Given the description of an element on the screen output the (x, y) to click on. 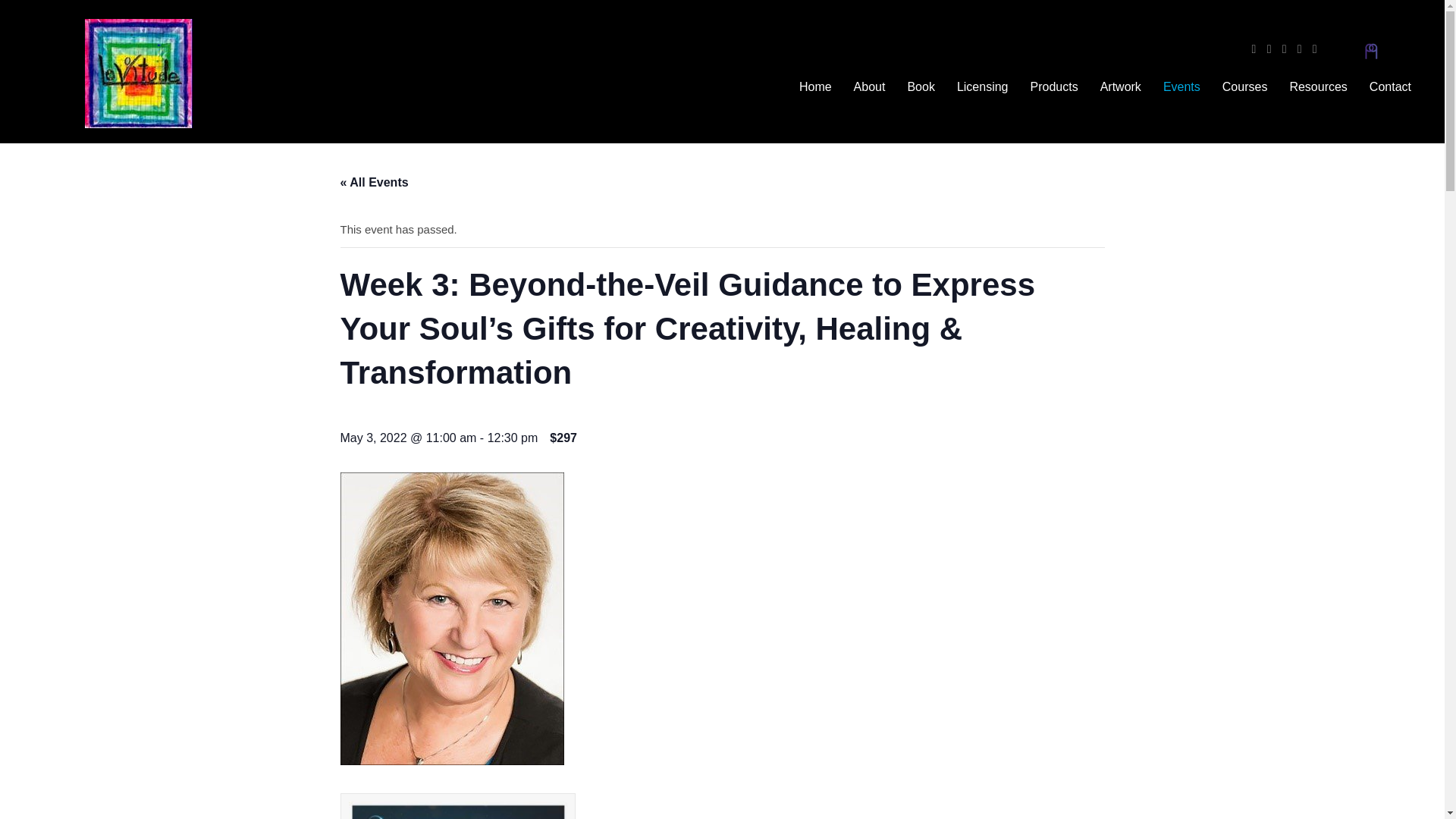
Products (1053, 87)
Courses (1244, 87)
Contact (1390, 87)
Book (920, 87)
Home (816, 87)
About (869, 87)
Licensing (982, 87)
Artwork (1120, 87)
logo-anne-pryor (1370, 50)
Resources (1317, 87)
logo (138, 72)
Events (1182, 87)
